Given the description of an element on the screen output the (x, y) to click on. 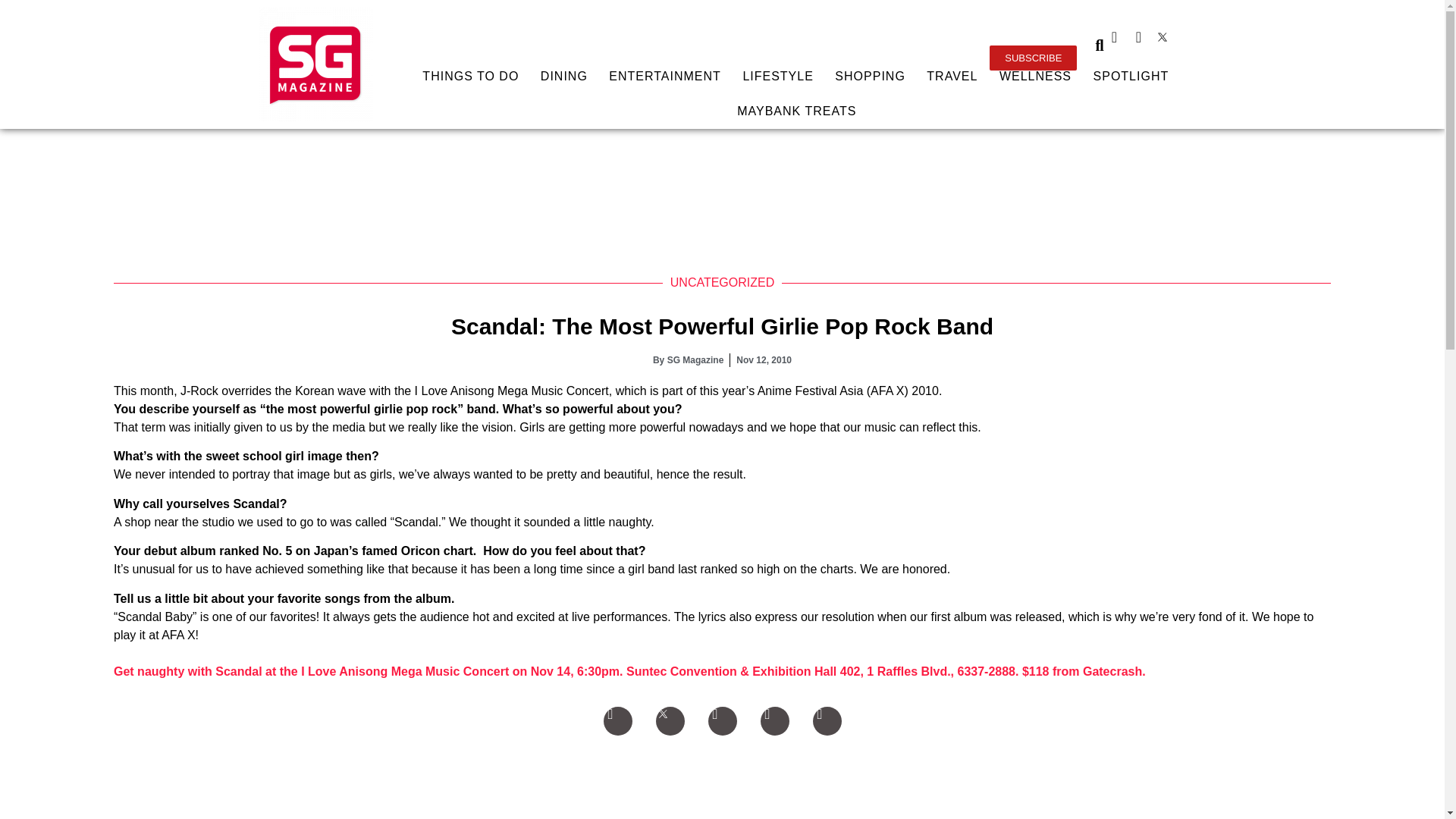
WELLNESS (1035, 76)
SG MAG LOGO (315, 64)
TRAVEL (952, 76)
MAYBANK TREATS (796, 111)
LIFESTYLE (778, 76)
ENTERTAINMENT (664, 76)
SPOTLIGHT (1130, 76)
THINGS TO DO (470, 76)
DINING (563, 76)
SUBSCRIBE (1033, 57)
